Given the description of an element on the screen output the (x, y) to click on. 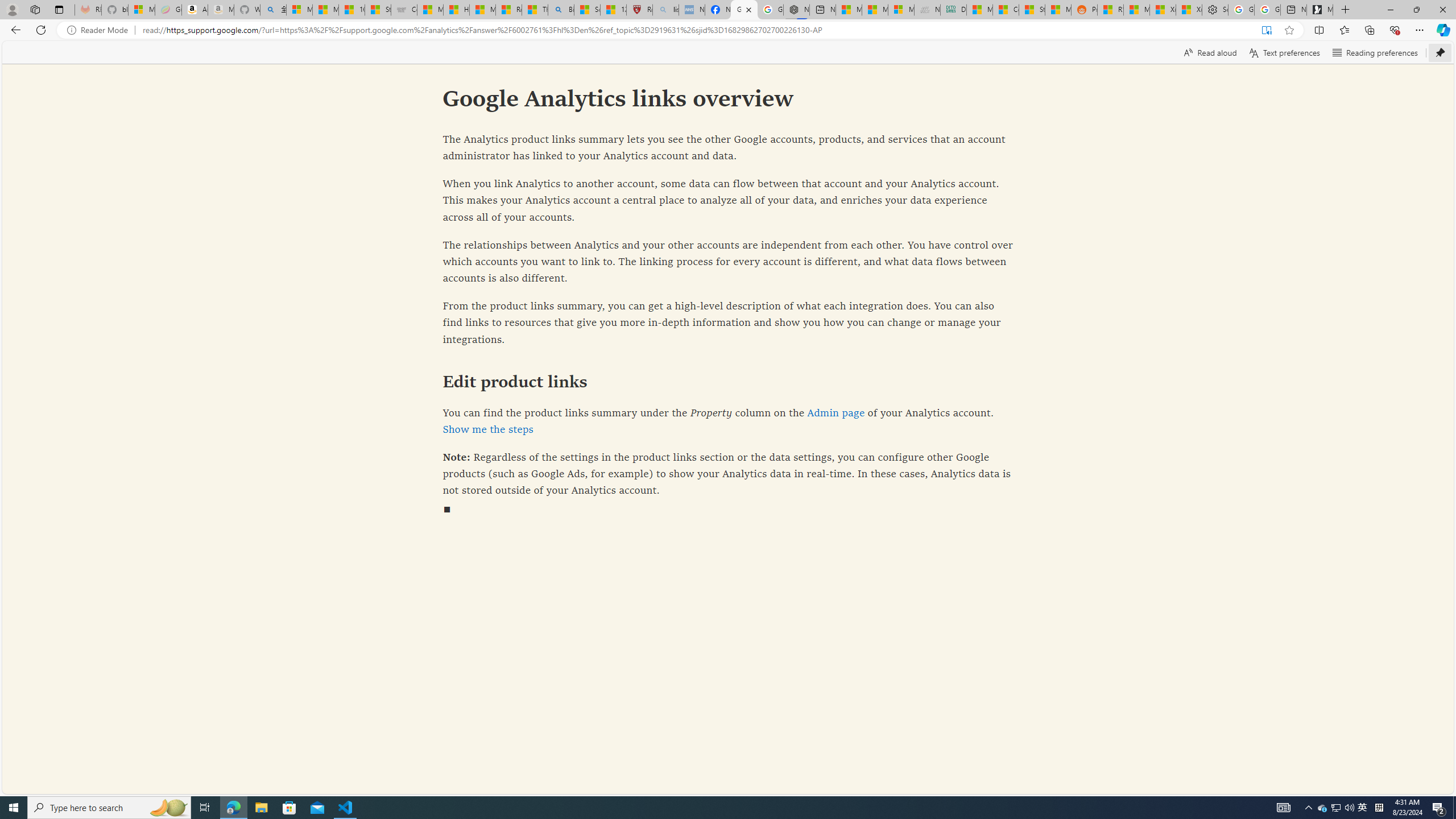
Reading preferences (1374, 52)
12 Popular Science Lies that Must be Corrected (613, 9)
